Given the description of an element on the screen output the (x, y) to click on. 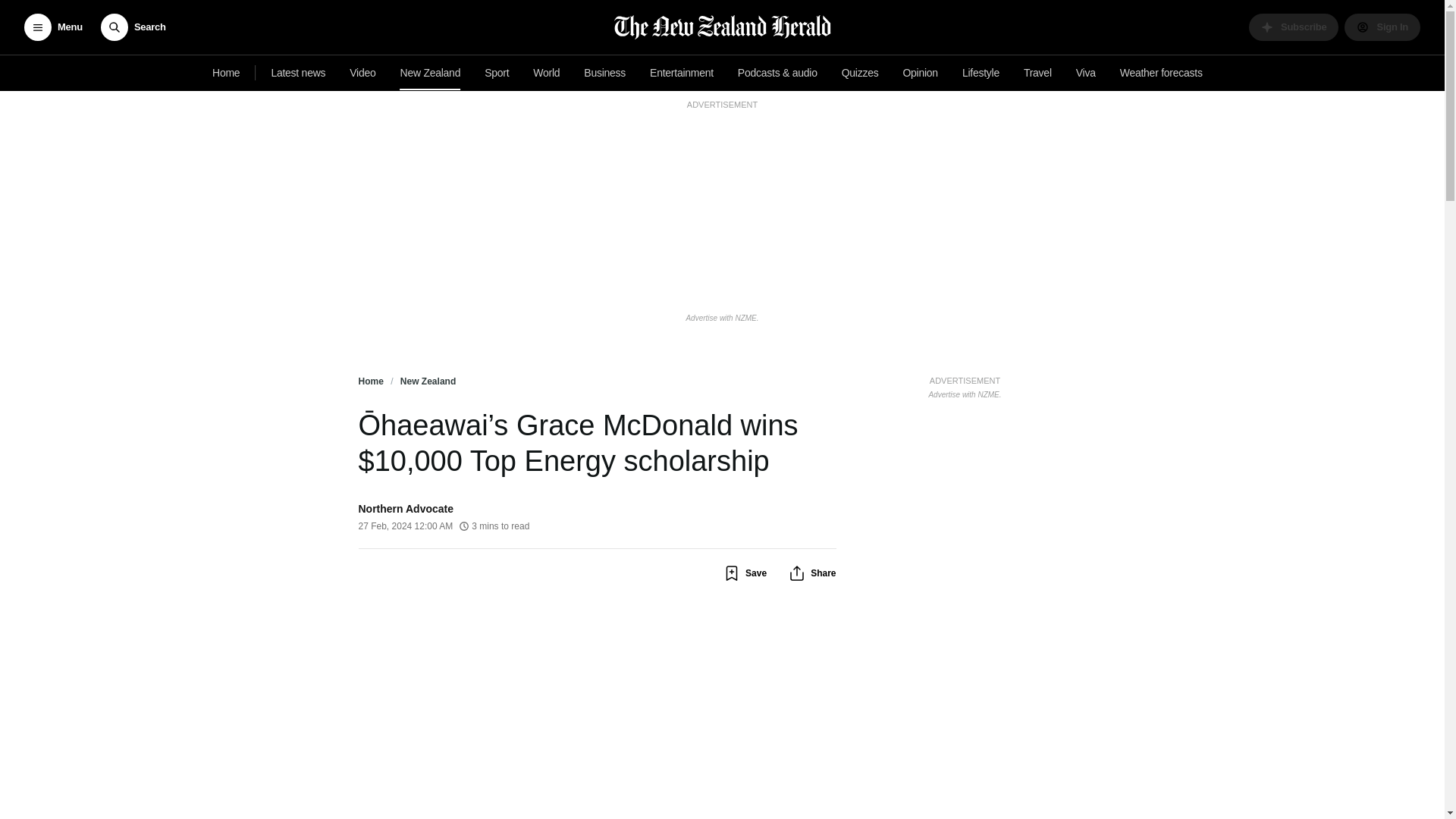
Subscribe (1294, 26)
Viva (1086, 72)
Latest news (298, 72)
Search (132, 26)
Lifestyle (981, 72)
Sport (497, 72)
Entertainment (681, 72)
Sign In (1382, 26)
World (546, 72)
Video (362, 72)
